Given the description of an element on the screen output the (x, y) to click on. 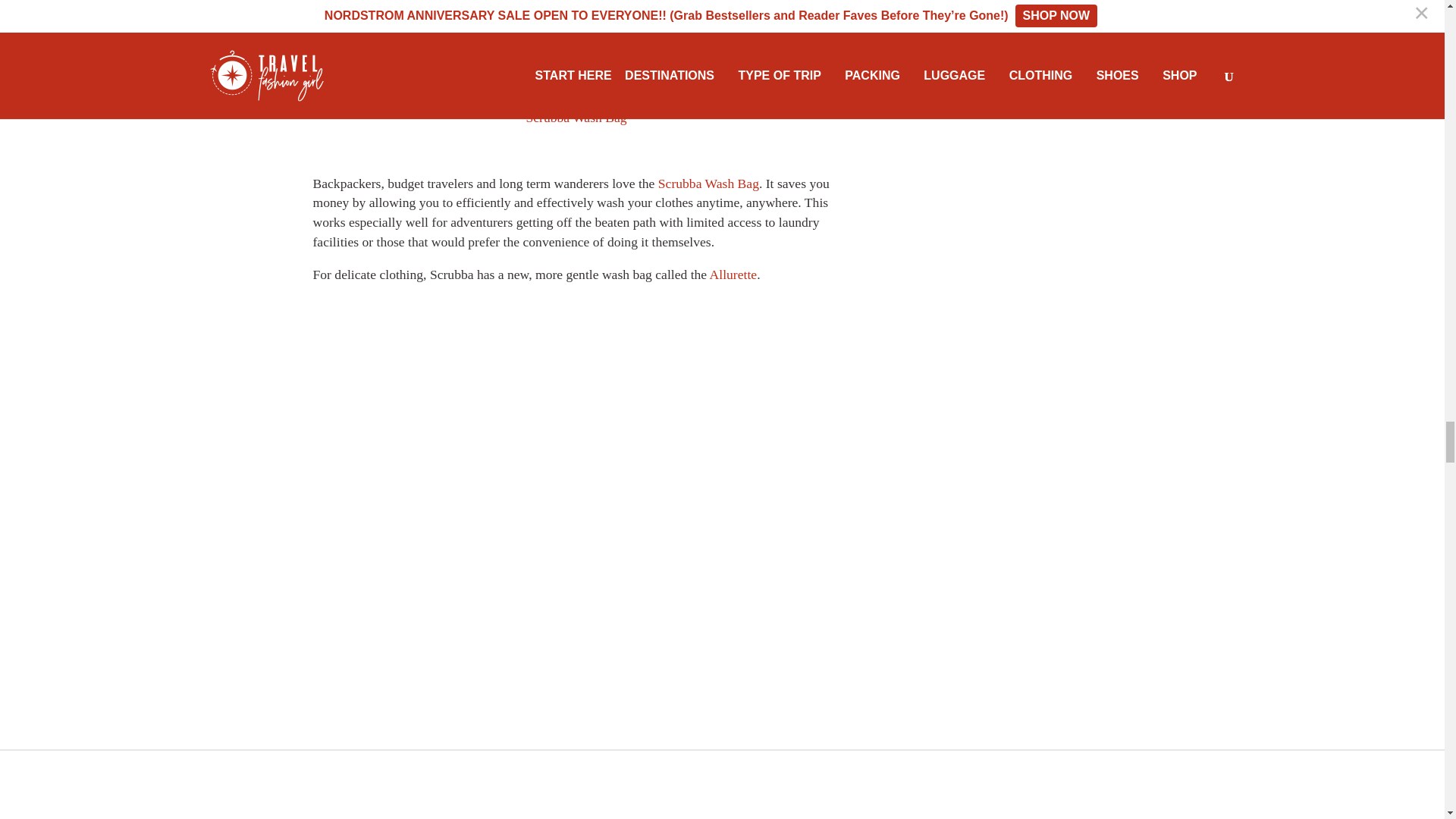
how-to-hand-wash-clothing-when-travelling (576, 47)
